Given the description of an element on the screen output the (x, y) to click on. 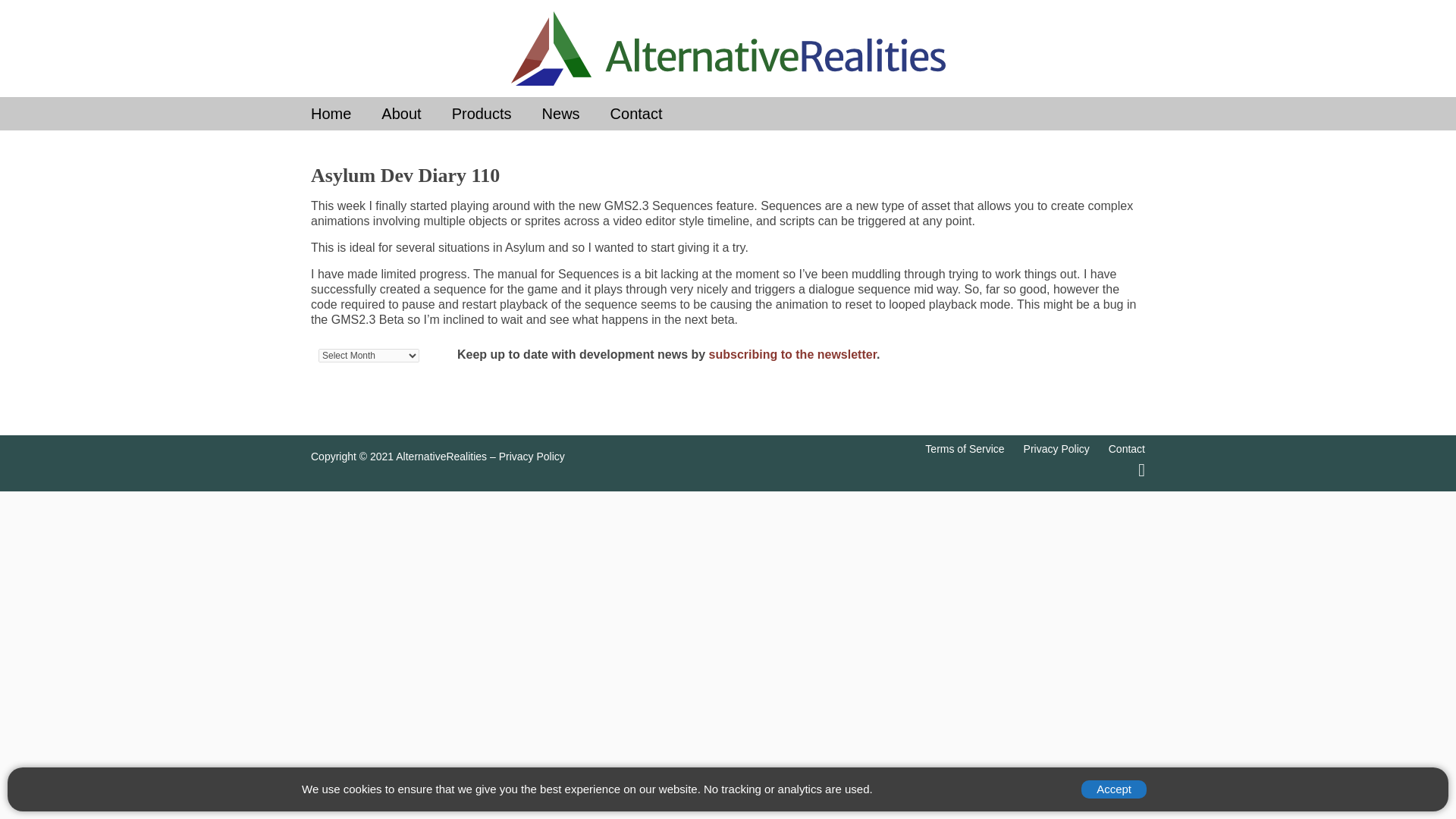
Home (346, 113)
Privacy Policy (531, 456)
subscribing to the newsletter (792, 354)
Products (496, 113)
About (416, 113)
News (575, 113)
Contact (651, 113)
Terms of Service (964, 449)
Contact (1126, 449)
Privacy Policy (1056, 449)
